Given the description of an element on the screen output the (x, y) to click on. 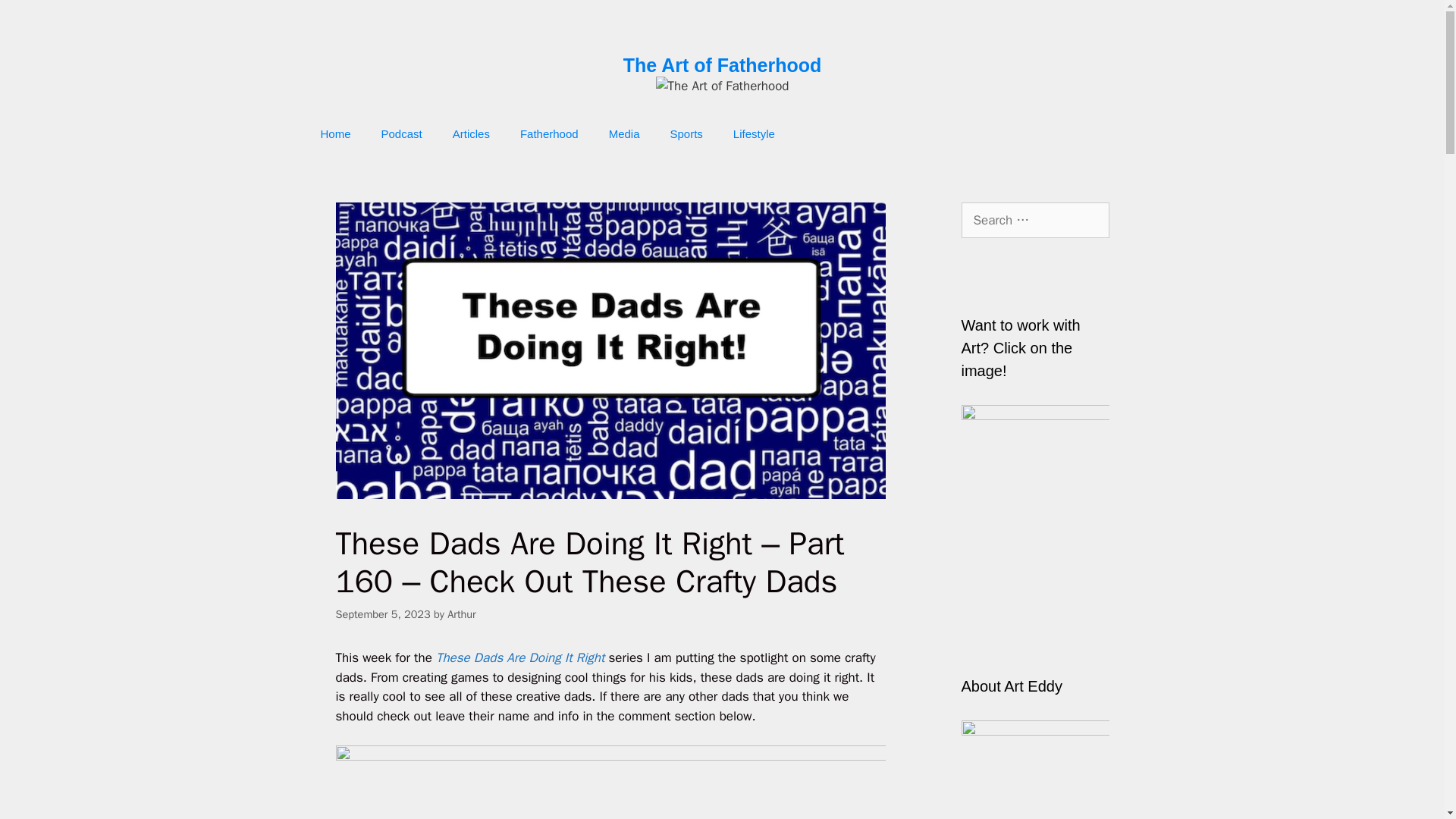
Media (624, 134)
Search for: (1034, 220)
These Dads Are Doing It Right  (521, 657)
Fatherhood (549, 134)
Home (334, 134)
The Art of Fatherhood (722, 65)
View all posts by Arthur (461, 613)
Podcast (402, 134)
Sports (686, 134)
Articles (471, 134)
Lifestyle (753, 134)
Arthur (461, 613)
